Given the description of an element on the screen output the (x, y) to click on. 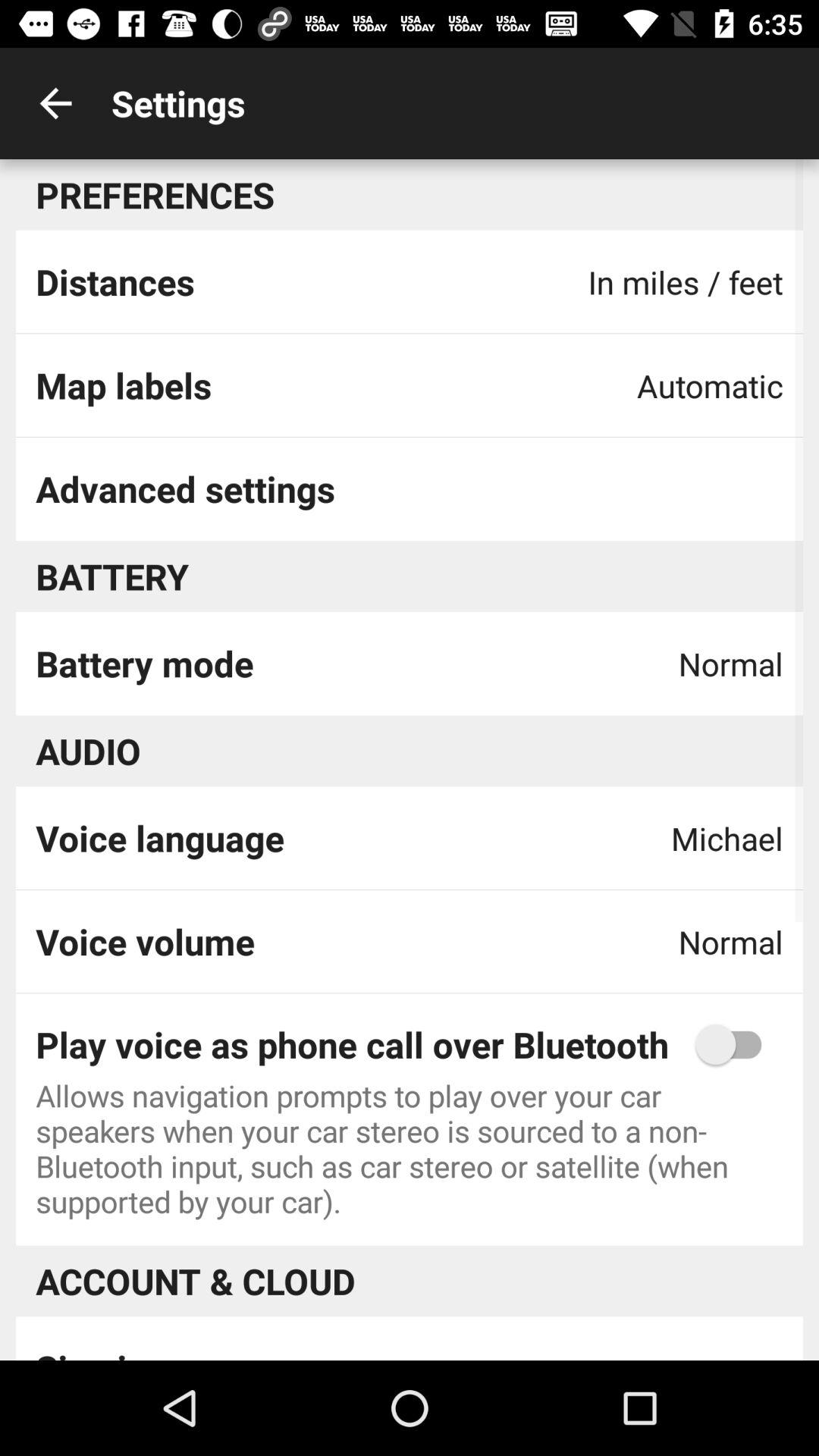
turn off item below the map labels (184, 488)
